Given the description of an element on the screen output the (x, y) to click on. 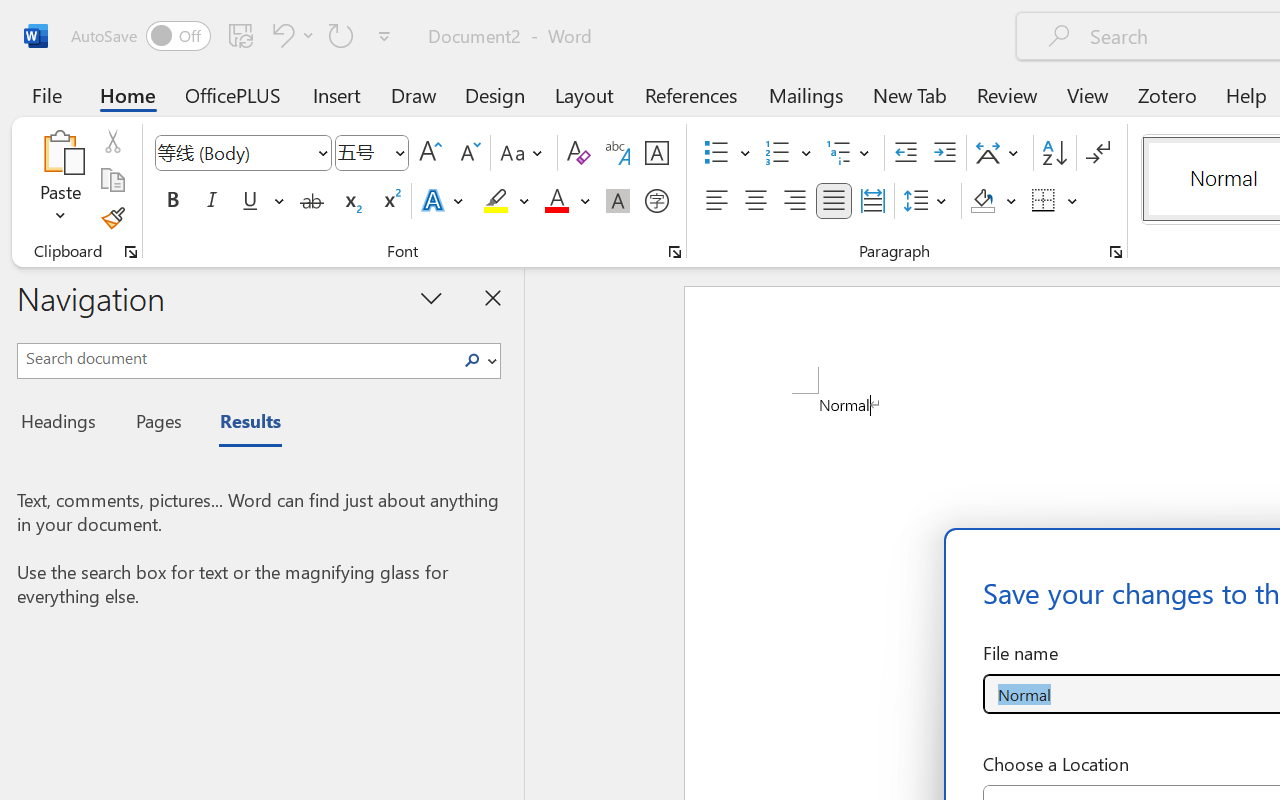
Numbering (778, 153)
Quick Access Toolbar (233, 36)
Office Clipboard... (131, 252)
Numbering (788, 153)
Asian Layout (1000, 153)
Align Right (794, 201)
Increase Indent (944, 153)
Underline (250, 201)
Results (240, 424)
AutoSave (140, 35)
